Given the description of an element on the screen output the (x, y) to click on. 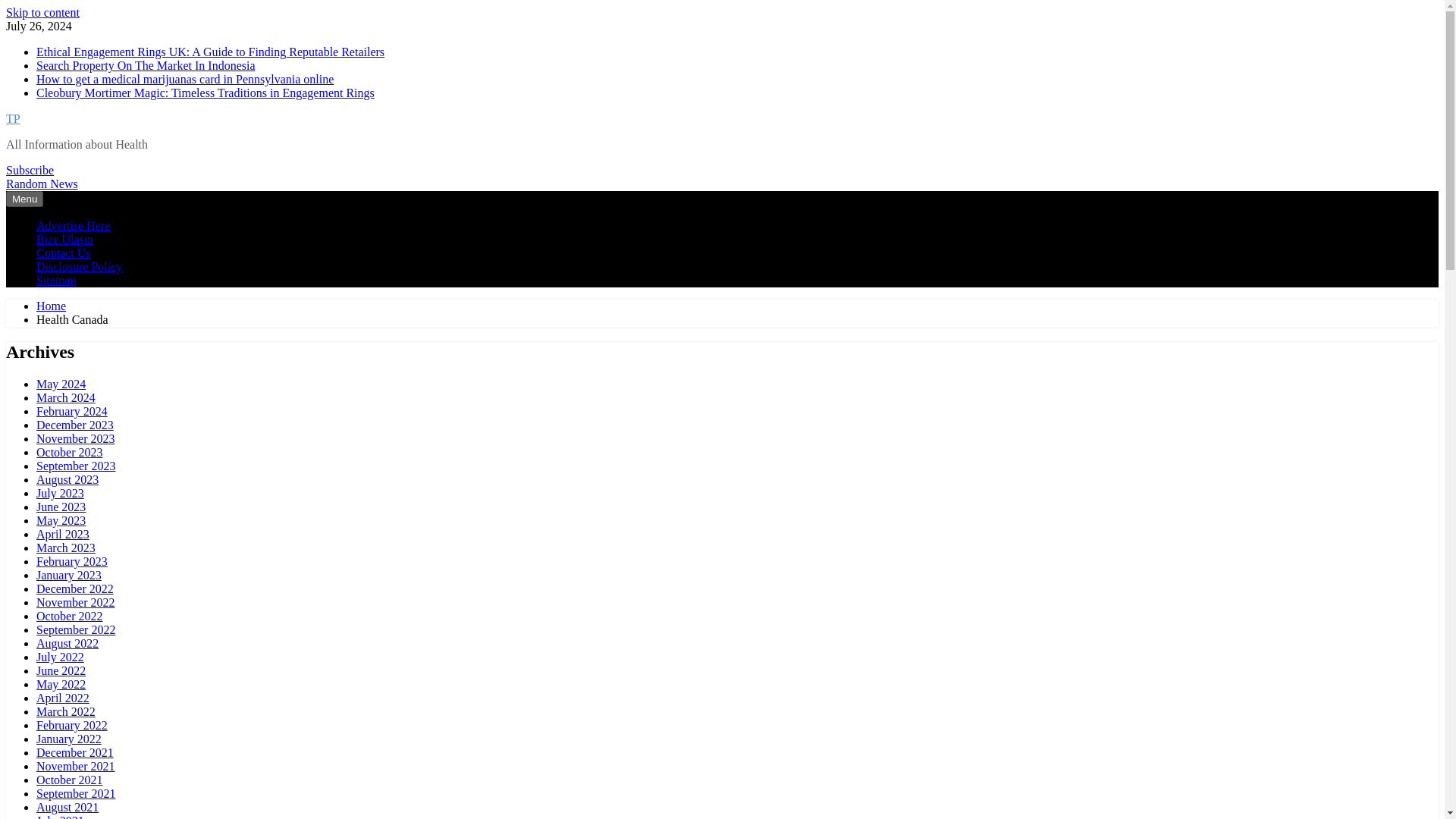
July 2023 (60, 492)
August 2022 (67, 643)
August 2023 (67, 479)
March 2023 (66, 547)
November 2022 (75, 602)
January 2023 (68, 574)
TP (12, 118)
Disclosure Policy (79, 266)
Search Property On The Market In Indonesia (146, 65)
September 2022 (75, 629)
October 2023 (69, 451)
Contact Us (63, 252)
May 2023 (60, 520)
October 2022 (69, 615)
